Given the description of an element on the screen output the (x, y) to click on. 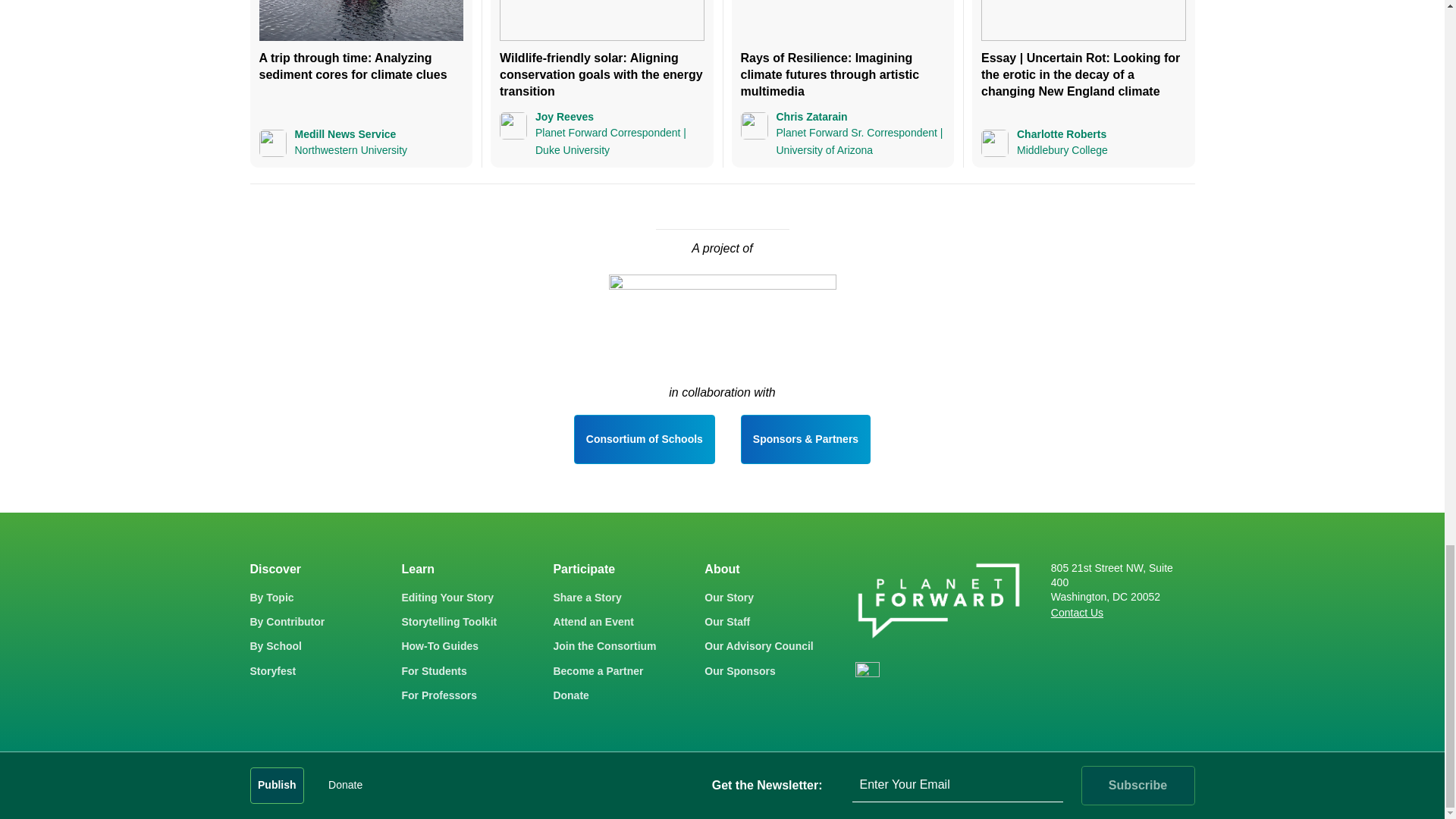
Subscribe (1138, 785)
